Given the description of an element on the screen output the (x, y) to click on. 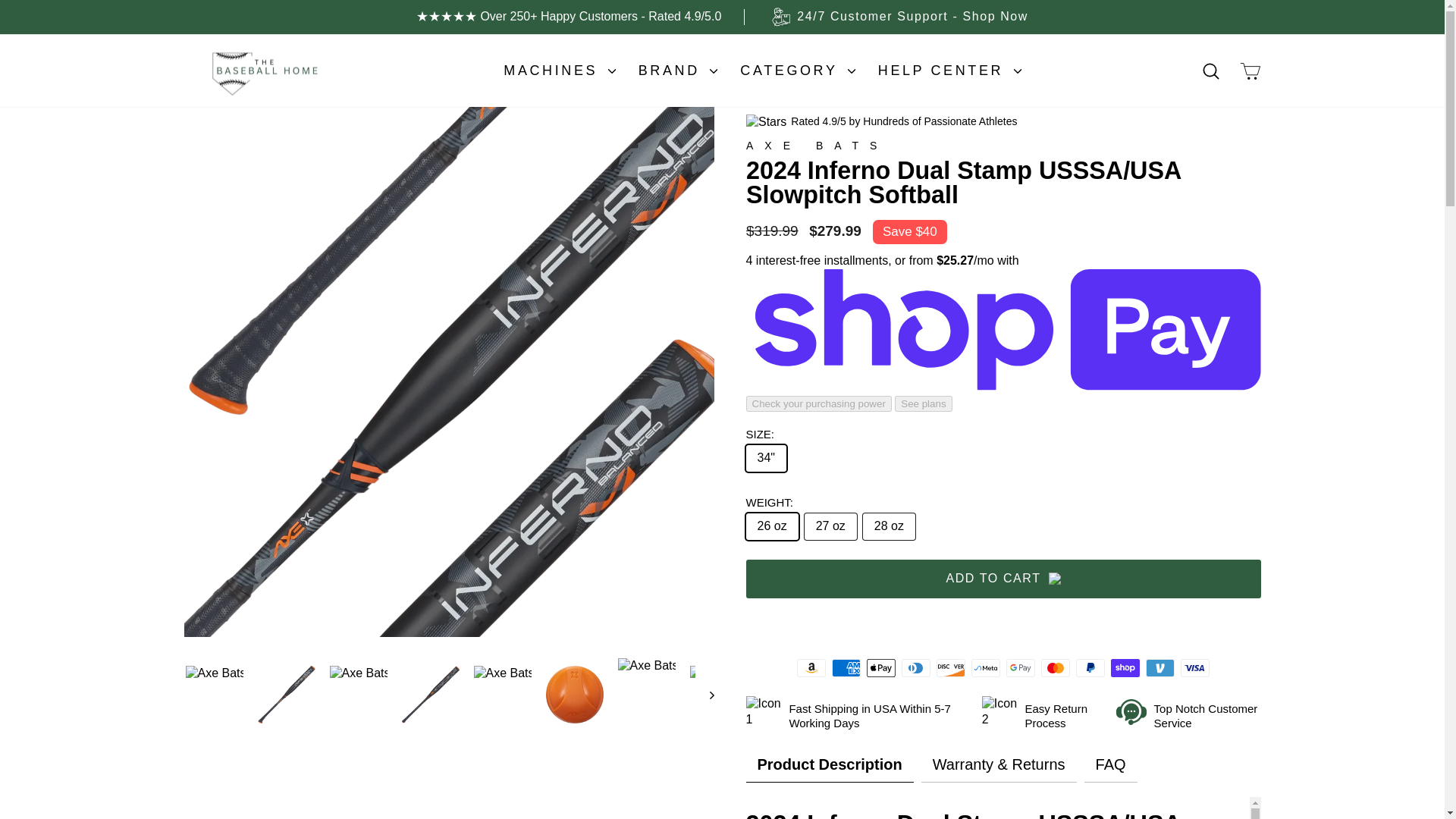
Visa (1194, 668)
ICON-SEARCH (1210, 70)
Apple Pay (880, 668)
Axe Bats (816, 145)
American Express (845, 668)
Google Pay (1020, 668)
Diners Club (915, 668)
Meta Pay (985, 668)
